Given the description of an element on the screen output the (x, y) to click on. 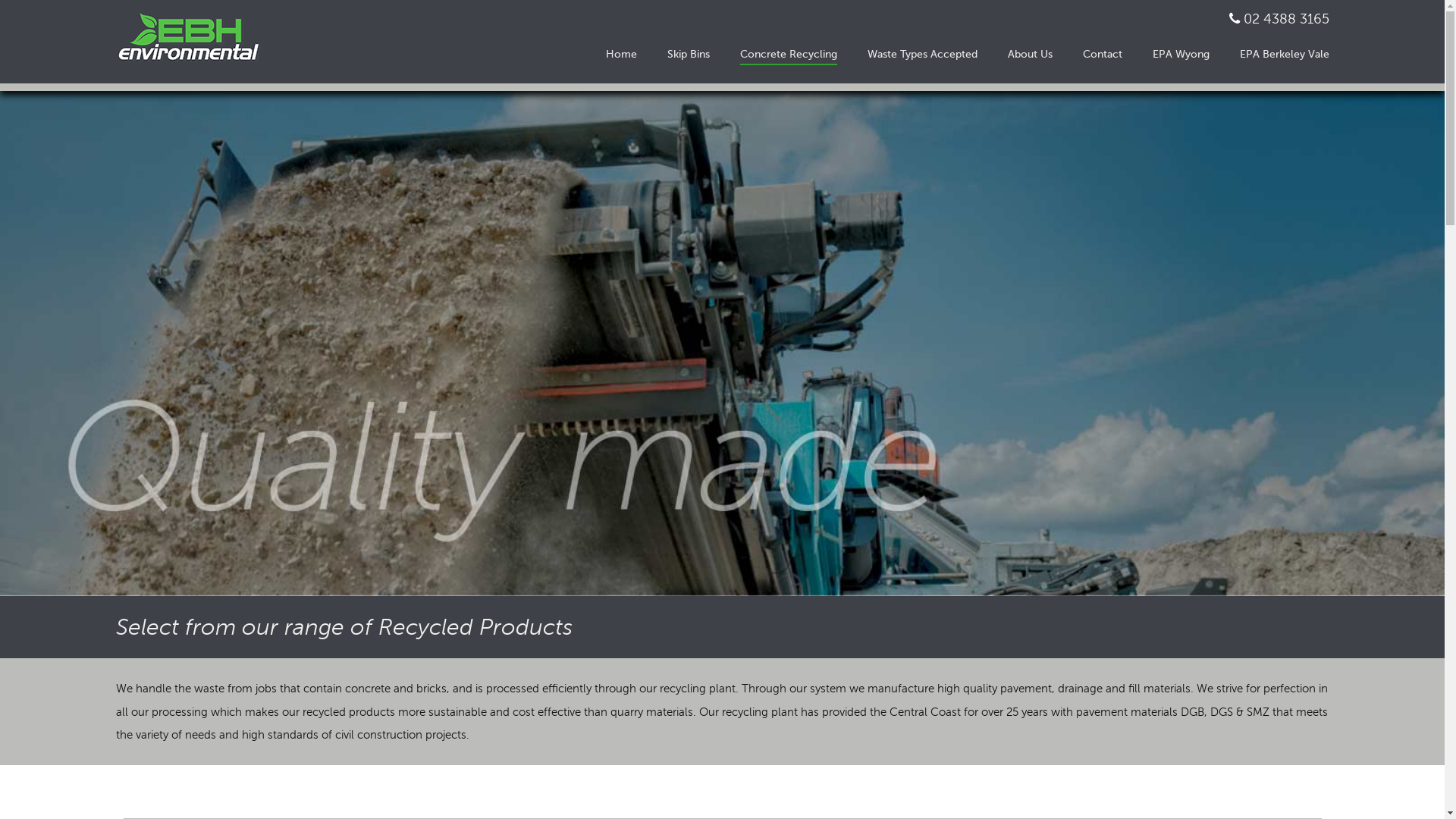
Skip Bins Element type: text (688, 53)
About Us Element type: text (1029, 53)
EBH Concrete Cycling machinery Element type: hover (722, 343)
Waste Types Accepted Element type: text (922, 54)
Contact Element type: text (1102, 53)
EPA Wyong Element type: text (1180, 54)
Concrete Recycling Element type: text (788, 53)
02 4388 3165 Element type: text (1286, 18)
Waste Types Accepted Element type: text (922, 53)
EPA Berkeley Vale Element type: text (1283, 53)
EBH Environmental Element type: hover (194, 37)
Home Element type: text (620, 54)
About Us Element type: text (1029, 54)
Concrete Recycling Element type: text (788, 54)
EPA Berkeley Vale Element type: text (1283, 54)
Contact Element type: text (1102, 54)
EPA Wyong Element type: text (1180, 53)
Home Element type: text (620, 53)
Skip Bins Element type: text (688, 54)
